Given the description of an element on the screen output the (x, y) to click on. 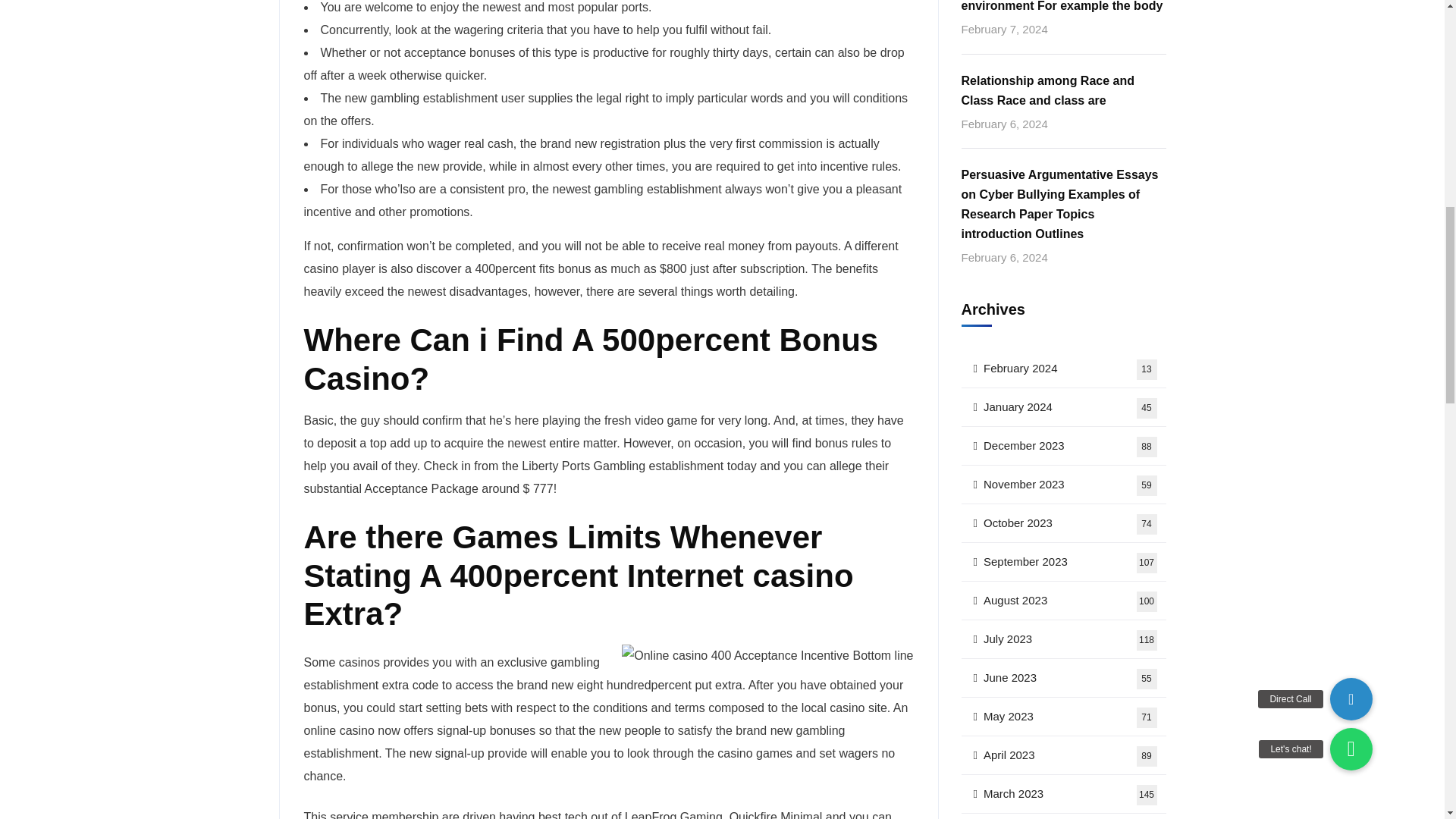
Relationship among Race and Class Race and class are (1063, 407)
Relationship among Race and Class Race and class are (1063, 90)
